Given the description of an element on the screen output the (x, y) to click on. 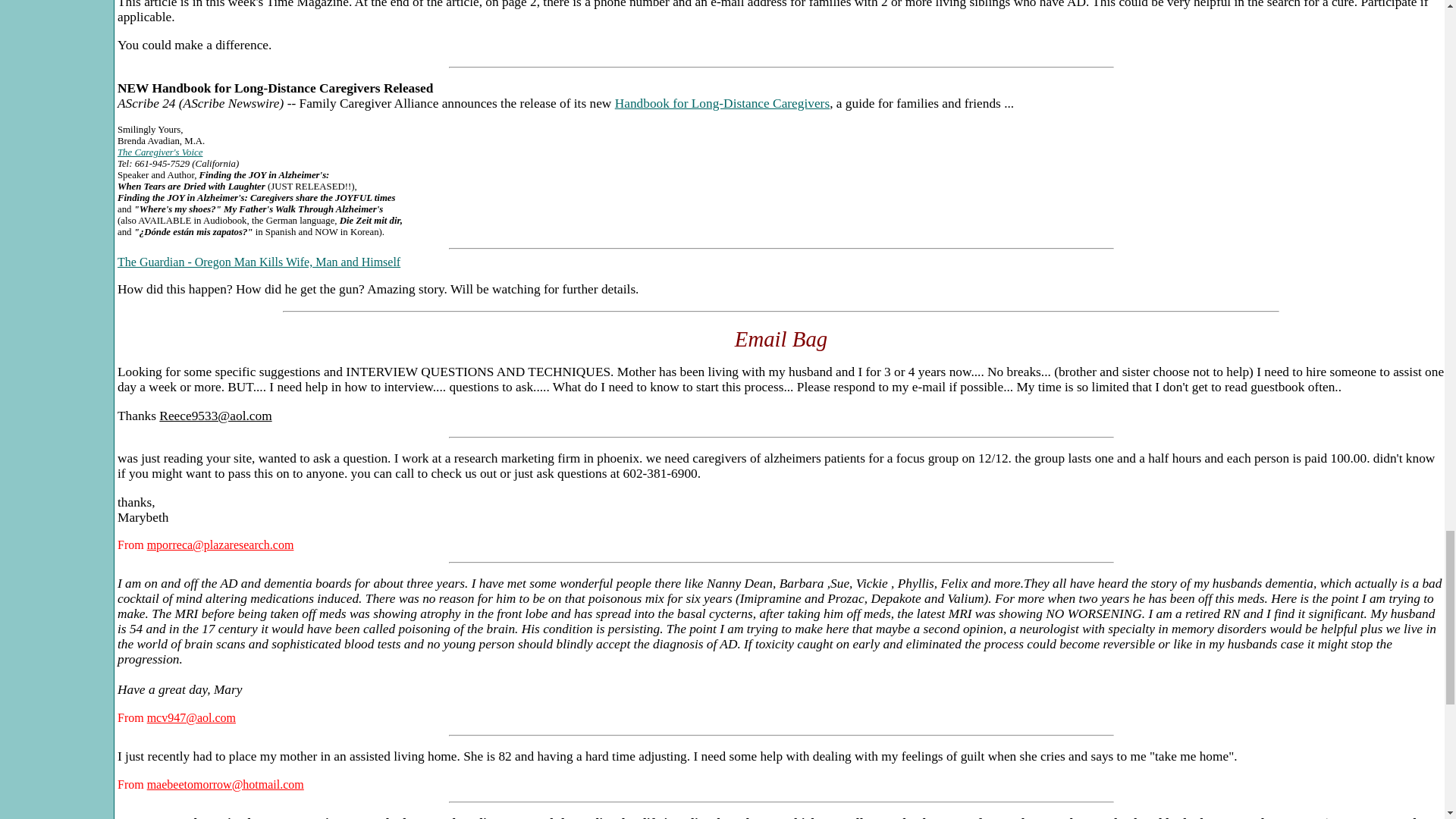
Send Email to MaryBeth (220, 544)
The Caregiver's Voice (159, 152)
Send Email to Mary (191, 717)
Send Email to Reece (214, 415)
TheCaregiversVoice.com (159, 152)
Handbook for Long-Distance Caregivers (721, 103)
The Guardian - Oregon Man Kills Wife, Man and Himself (258, 261)
